Given the description of an element on the screen output the (x, y) to click on. 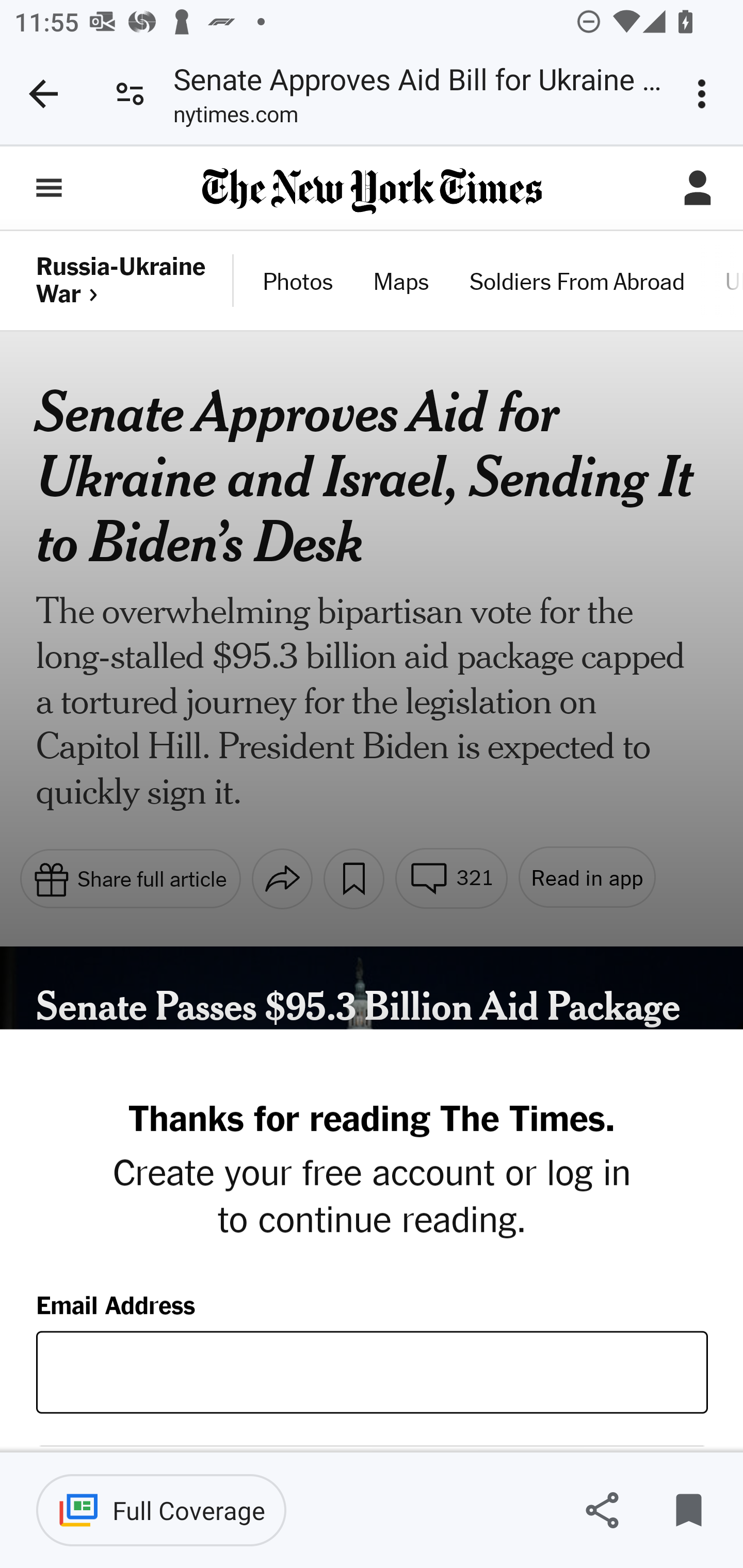
Close tab (43, 93)
Customize and control Google Chrome (705, 93)
Connection is secure (129, 93)
nytimes.com (235, 117)
Full Coverage (161, 1509)
Share (601, 1510)
Remove from saved stories (688, 1510)
